Given the description of an element on the screen output the (x, y) to click on. 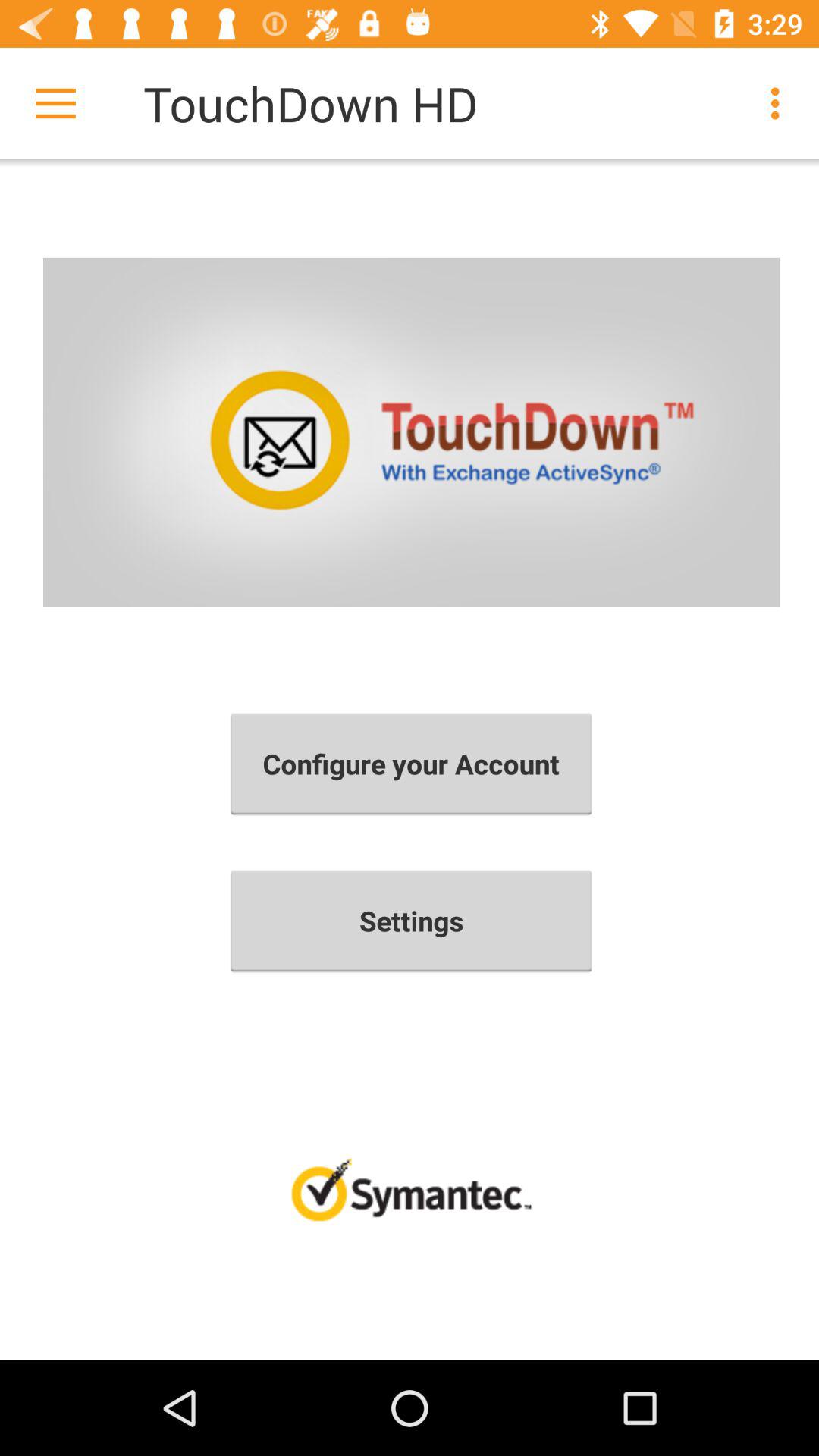
choose the icon above the settings item (410, 763)
